Given the description of an element on the screen output the (x, y) to click on. 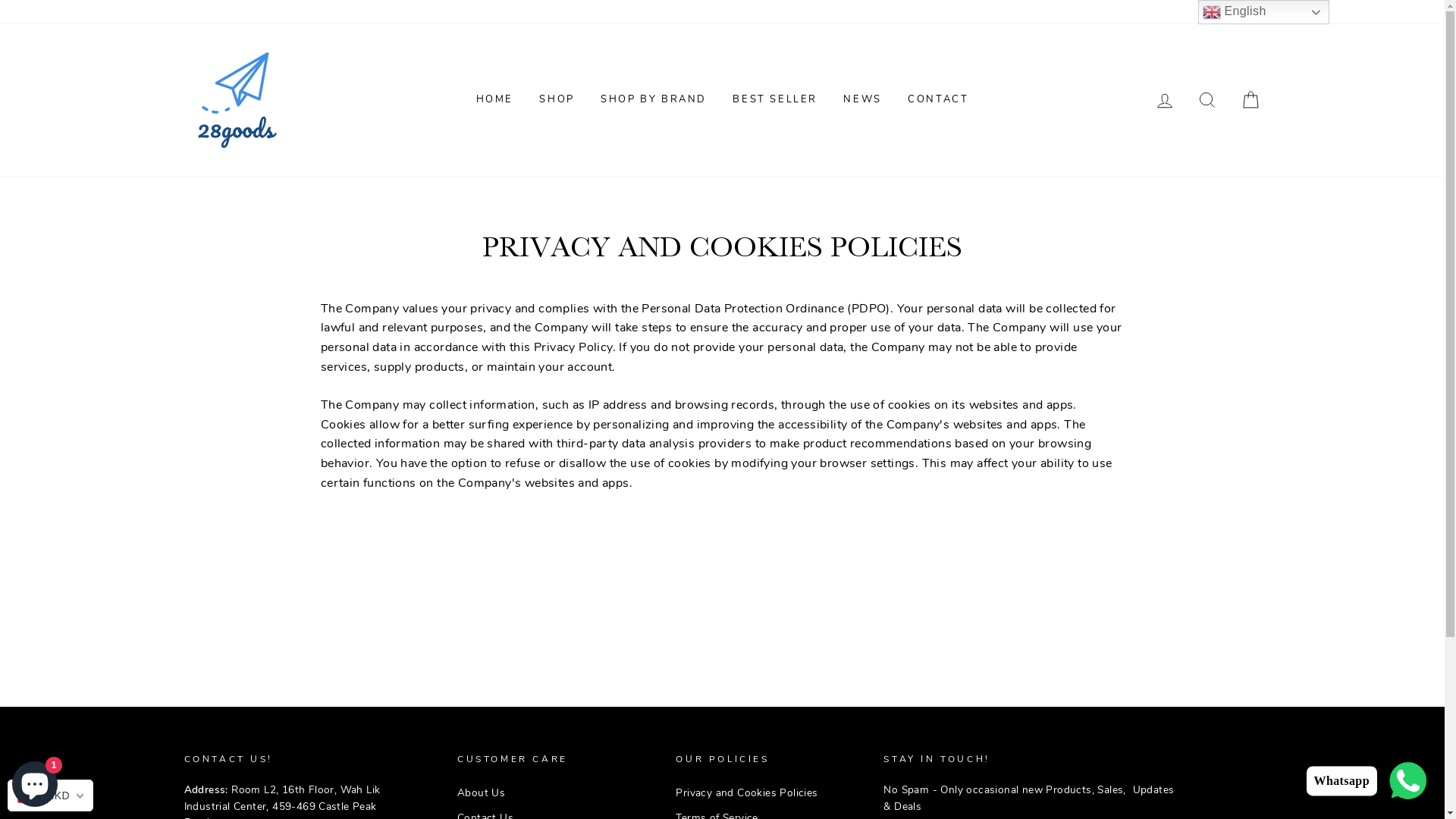
BEST SELLER Element type: text (774, 99)
Privacy and Cookies Policies Element type: text (746, 792)
Shopify online store chat Element type: hover (34, 780)
Facebook Element type: text (1250, 12)
SHOP BY BRAND Element type: text (653, 99)
CONTACT Element type: text (937, 99)
SHOP Element type: text (556, 99)
Skip to content Element type: text (0, 0)
NEWS Element type: text (861, 99)
About Us Element type: text (481, 792)
English Element type: text (1263, 12)
LOG IN Element type: text (1164, 99)
Instagram Element type: text (1227, 12)
HOME Element type: text (494, 99)
CART Element type: text (1249, 99)
SEARCH Element type: text (1206, 99)
